Given the description of an element on the screen output the (x, y) to click on. 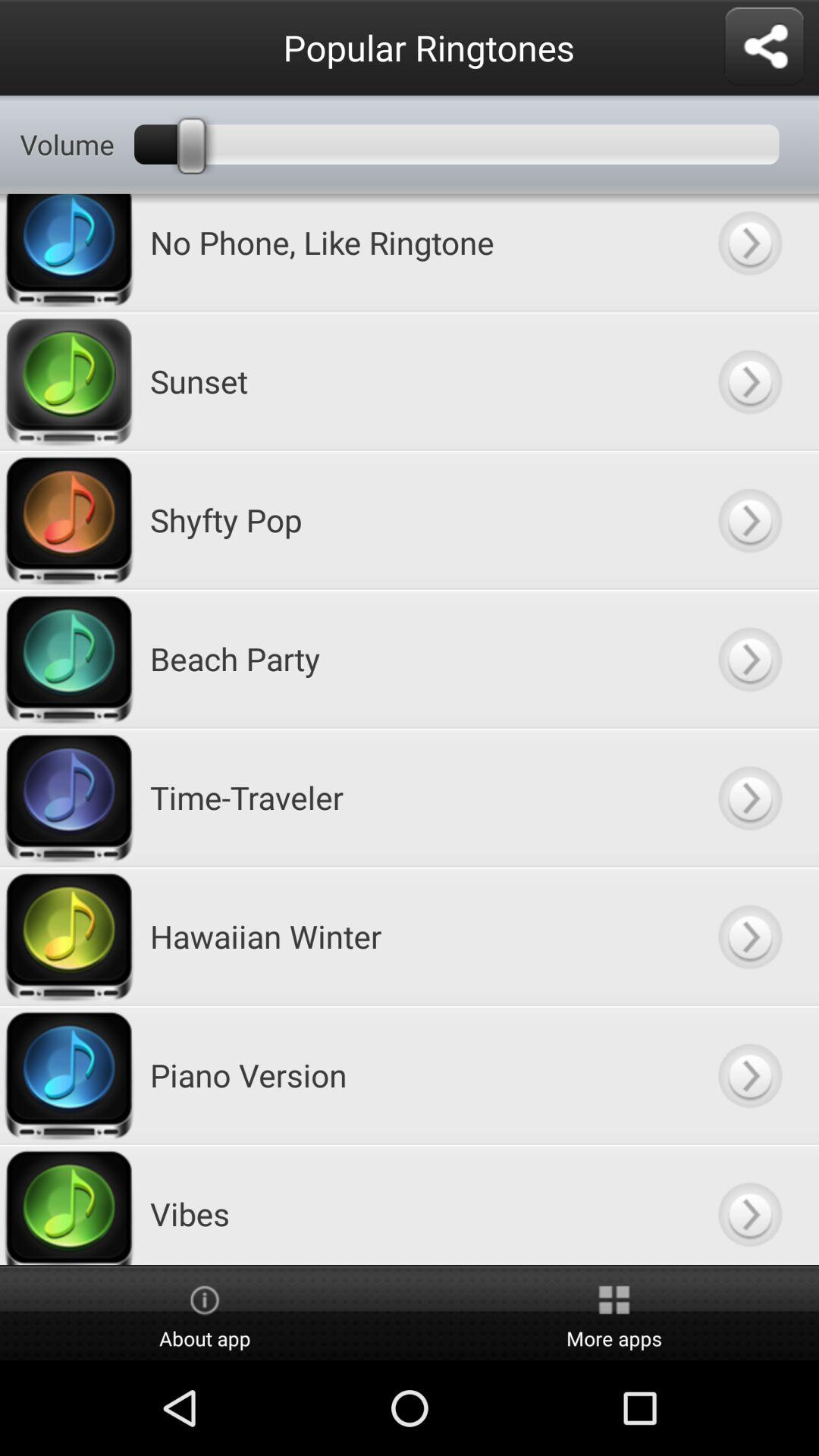
play sunset (749, 381)
